Given the description of an element on the screen output the (x, y) to click on. 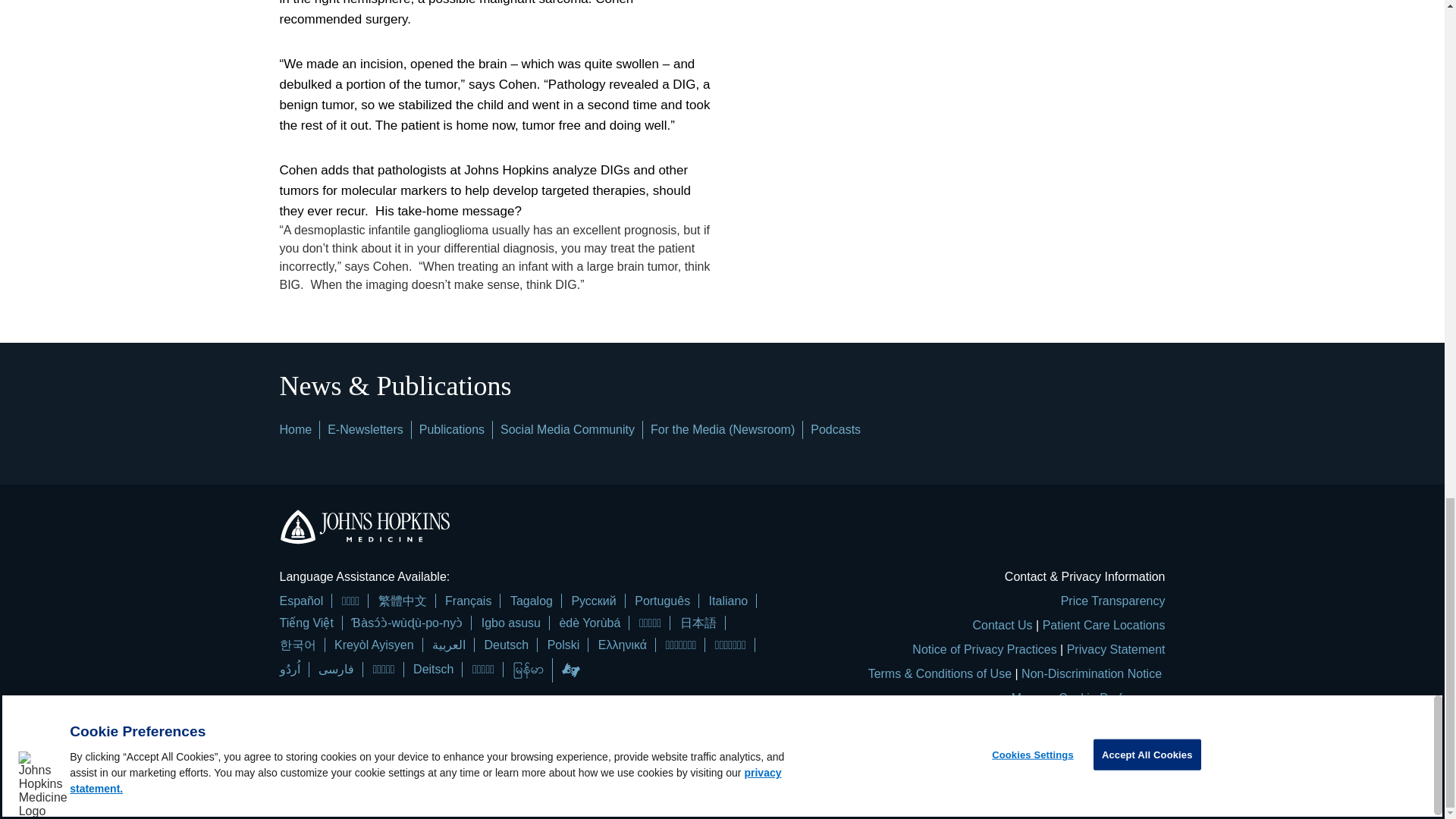
E-Newsletters (365, 429)
Publications (451, 429)
Social Media Community (567, 429)
Podcasts (835, 429)
Home (295, 429)
